Given the description of an element on the screen output the (x, y) to click on. 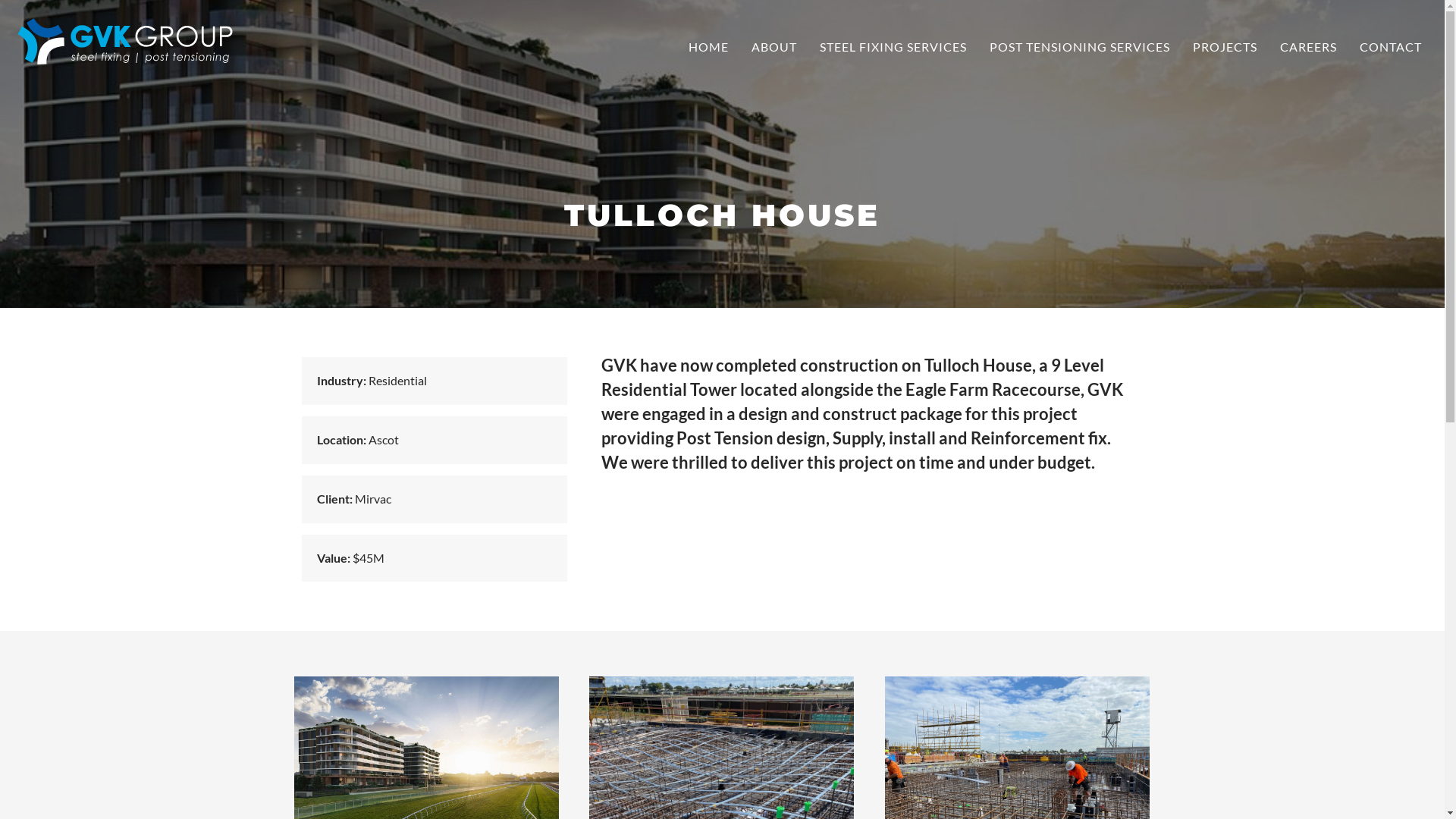
PROJECTS Element type: text (1224, 47)
POST TENSIONING SERVICES Element type: text (1079, 47)
CONTACT Element type: text (1390, 47)
STEEL FIXING SERVICES Element type: text (893, 47)
ABOUT Element type: text (774, 47)
HOME Element type: text (708, 47)
CAREERS Element type: text (1308, 47)
